Given the description of an element on the screen output the (x, y) to click on. 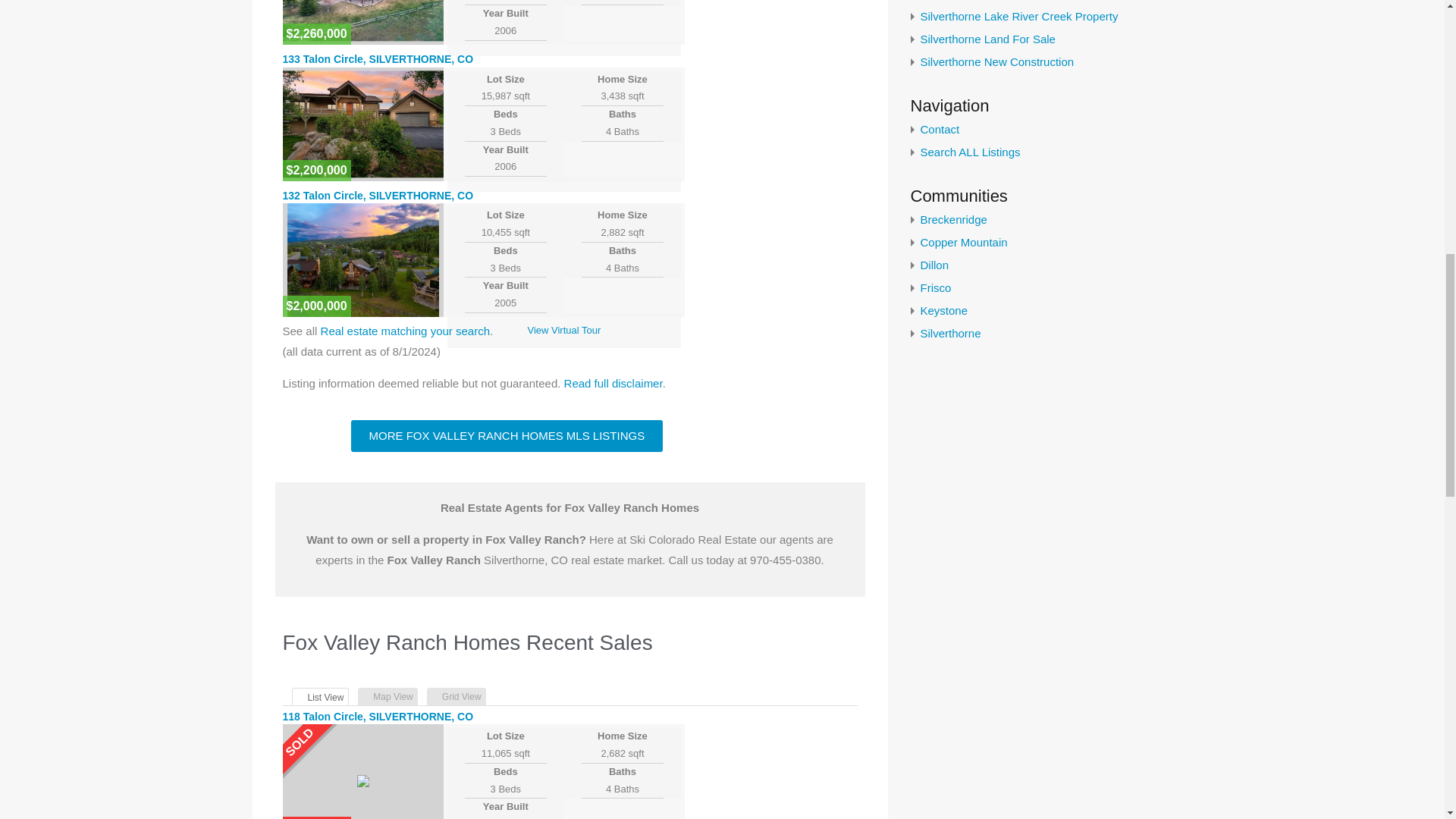
MORE FOX VALLEY RANCH HOMES MLS LISTINGS (506, 436)
Real estate matching your search (404, 330)
133 Talon Circle, SILVERTHORNE, CO (377, 59)
132 Talon Circle, SILVERTHORNE, CO (377, 195)
View Virtual Tour (563, 329)
Read full disclaimer (613, 382)
118 Talon Circle, SILVERTHORNE, CO (377, 716)
